Given the description of an element on the screen output the (x, y) to click on. 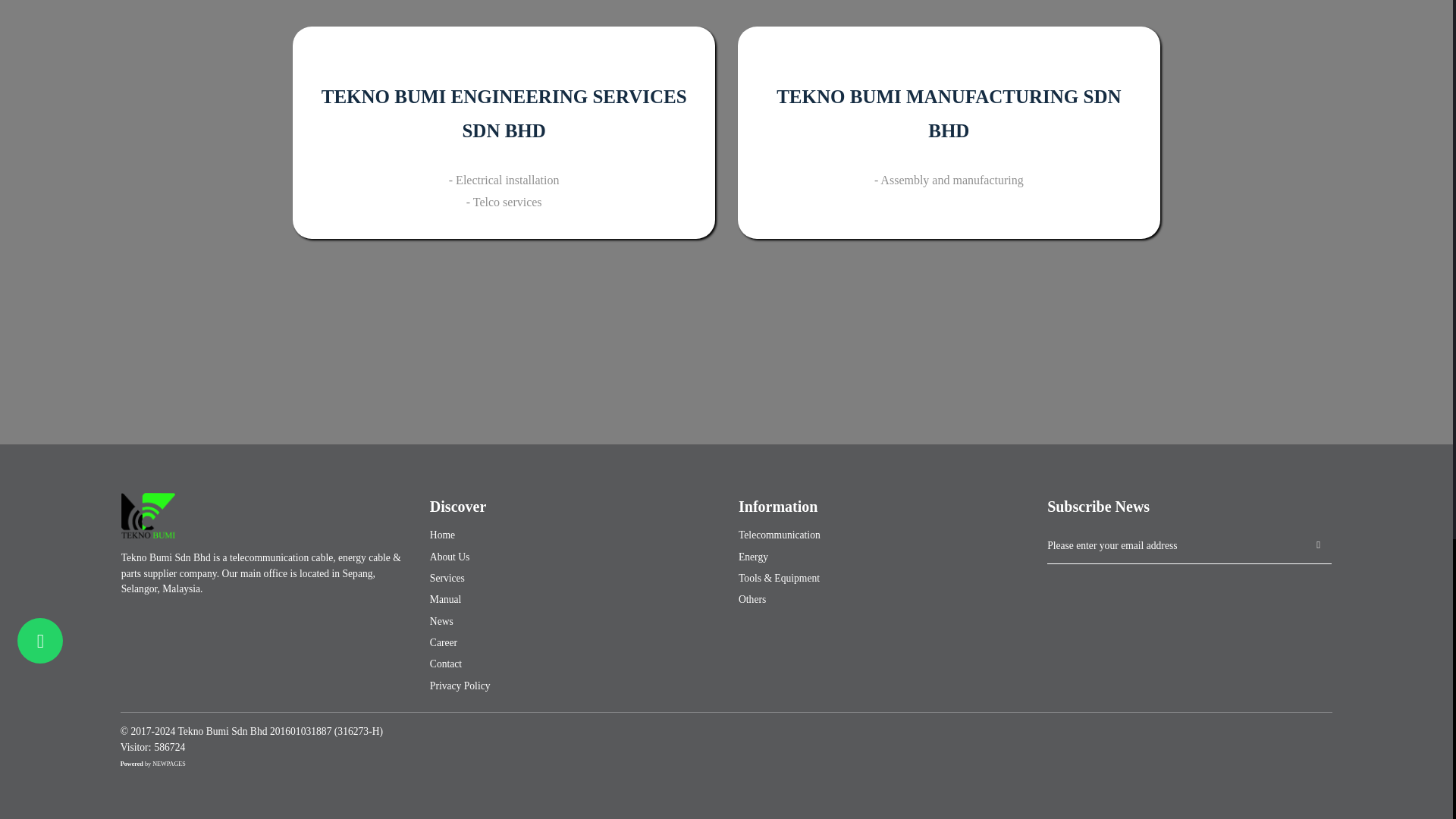
About Us (571, 557)
Services (571, 578)
Home (571, 534)
News (571, 621)
Manual (571, 599)
